Given the description of an element on the screen output the (x, y) to click on. 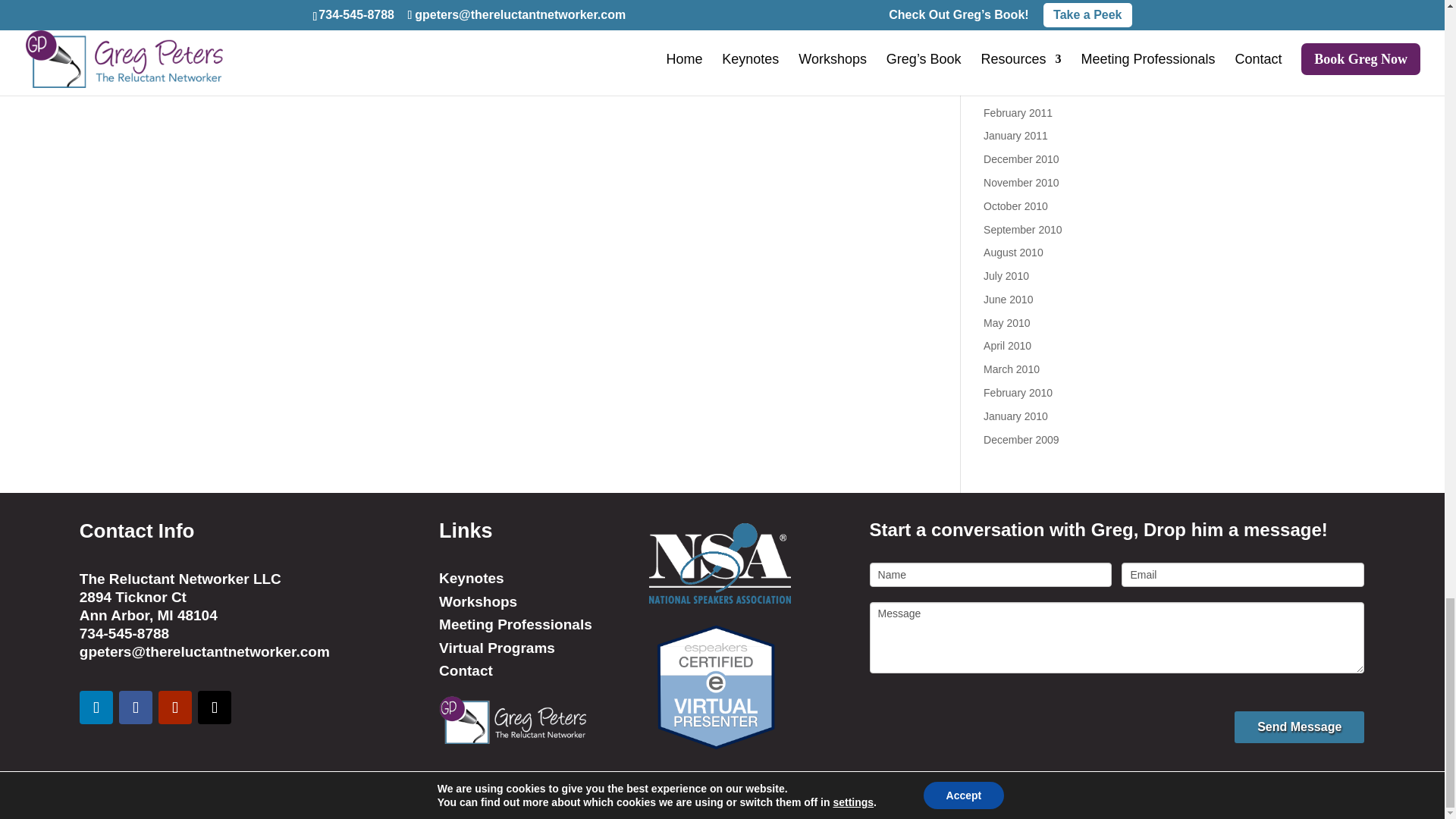
Email (1242, 574)
Name (990, 574)
virtual (715, 686)
NSALogoBlue (719, 563)
Follow on Facebook (135, 707)
Follow on LinkedIn (96, 707)
Footer Logo 2b (512, 719)
Follow on Youtube (175, 707)
Follow on X (214, 707)
